Given the description of an element on the screen output the (x, y) to click on. 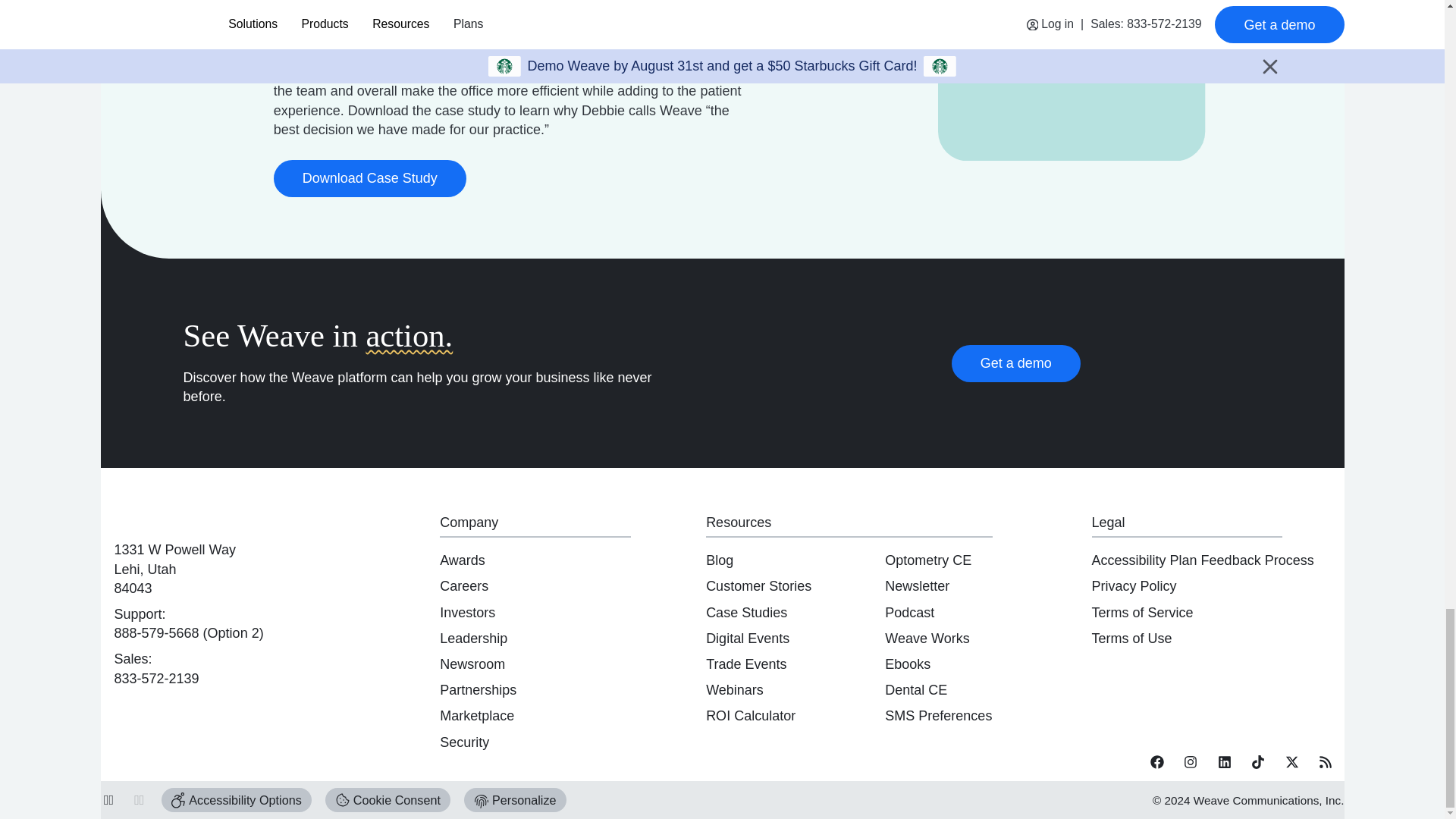
Newsroom (472, 663)
Newsletter (917, 585)
Marketplace (476, 715)
Careers (463, 585)
Optometry CE (928, 560)
Security (464, 742)
Accessibility Plan Feedback Process (1203, 560)
833-572-2139 (155, 678)
Support: (139, 613)
Blog (719, 560)
